Given the description of an element on the screen output the (x, y) to click on. 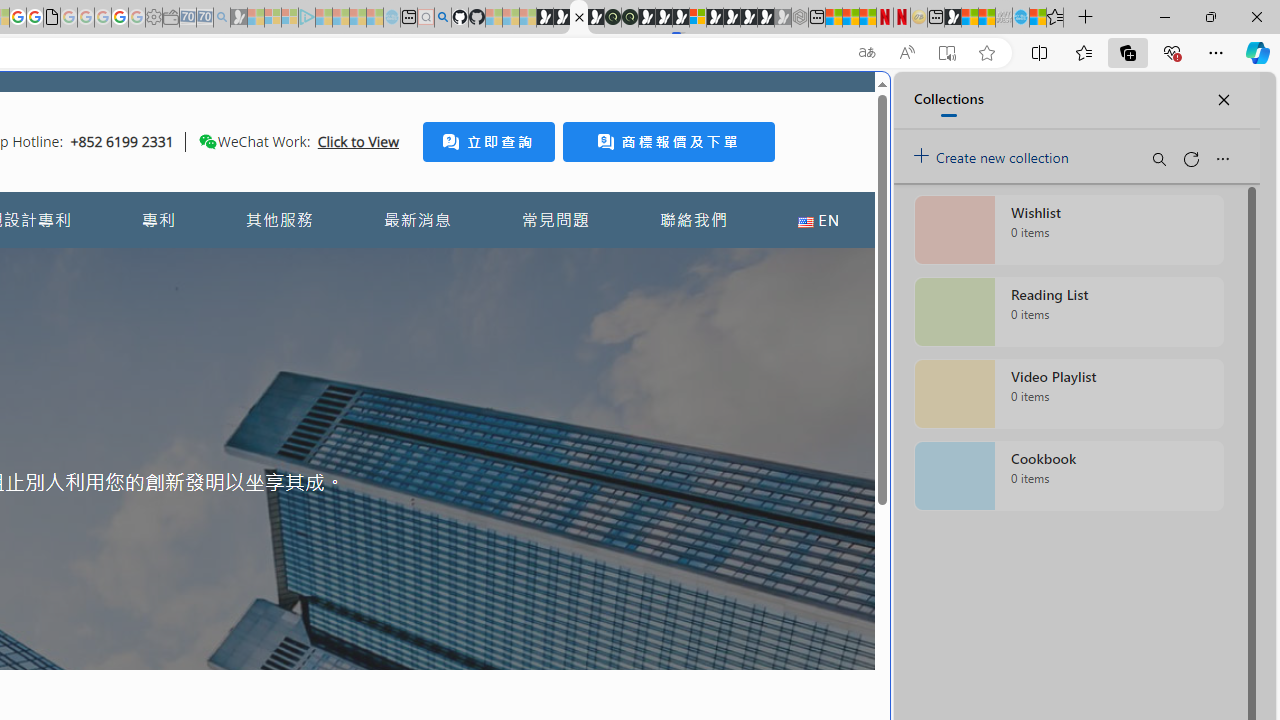
Search or enter web address (343, 191)
Play Cave FRVR in your browser | Games from Microsoft Start (343, 426)
Sign in to your account (697, 17)
Earth has six continents not seven, radical new study claims (986, 17)
